Given the description of an element on the screen output the (x, y) to click on. 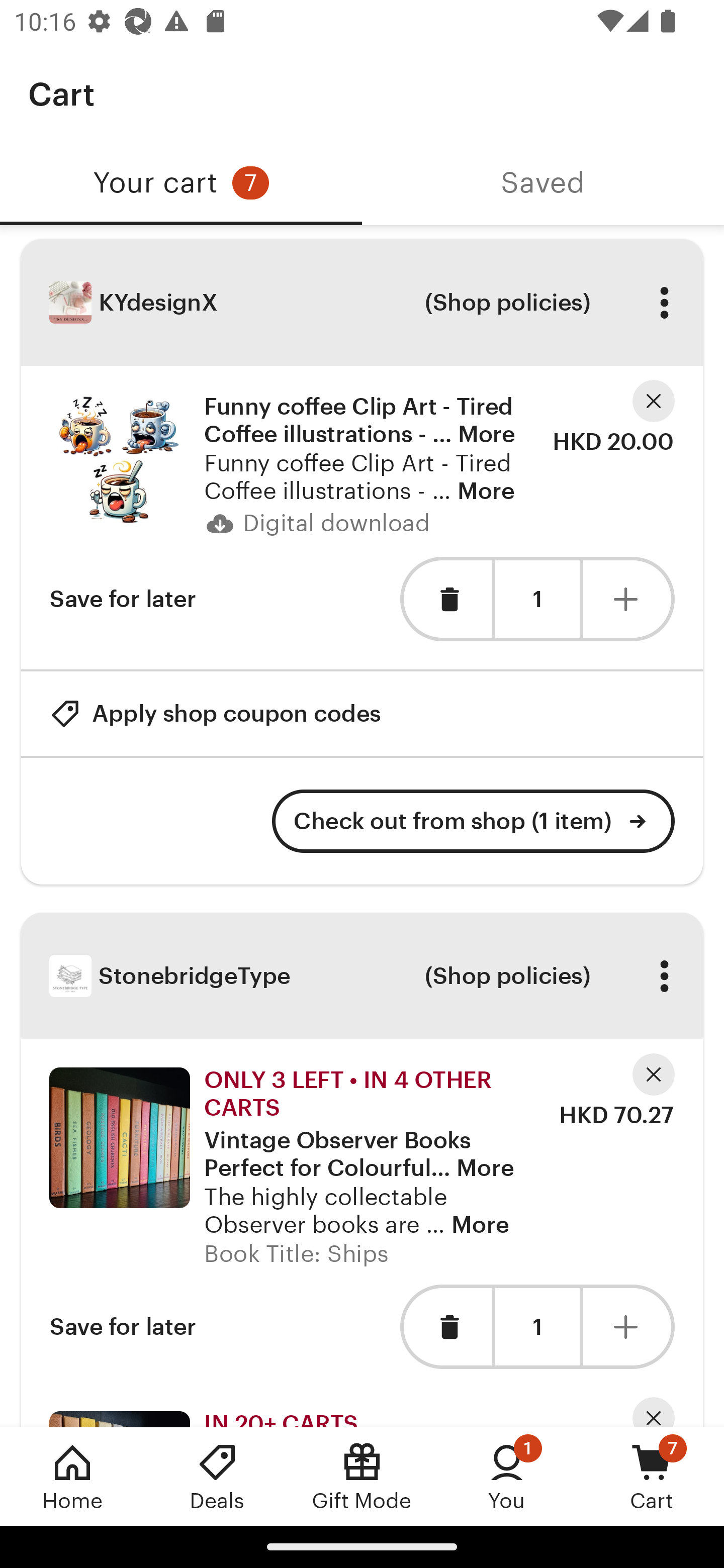
Saved, tab 2 of 2 Saved (543, 183)
KYdesignX (Shop policies) More options (361, 302)
(Shop policies) (507, 302)
More options (663, 302)
Save for later (122, 598)
Remove item from cart (445, 598)
Add one unit to cart (628, 598)
1 (537, 598)
Apply shop coupon codes (215, 713)
Check out from shop (1 item) (473, 821)
StonebridgeType (Shop policies) More options (361, 975)
(Shop policies) (507, 975)
More options (663, 975)
Save for later (122, 1326)
Remove item from cart (445, 1326)
Add one unit to cart (628, 1326)
1 (537, 1326)
Home (72, 1475)
Deals (216, 1475)
Gift Mode (361, 1475)
You, 1 new notification You (506, 1475)
